Given the description of an element on the screen output the (x, y) to click on. 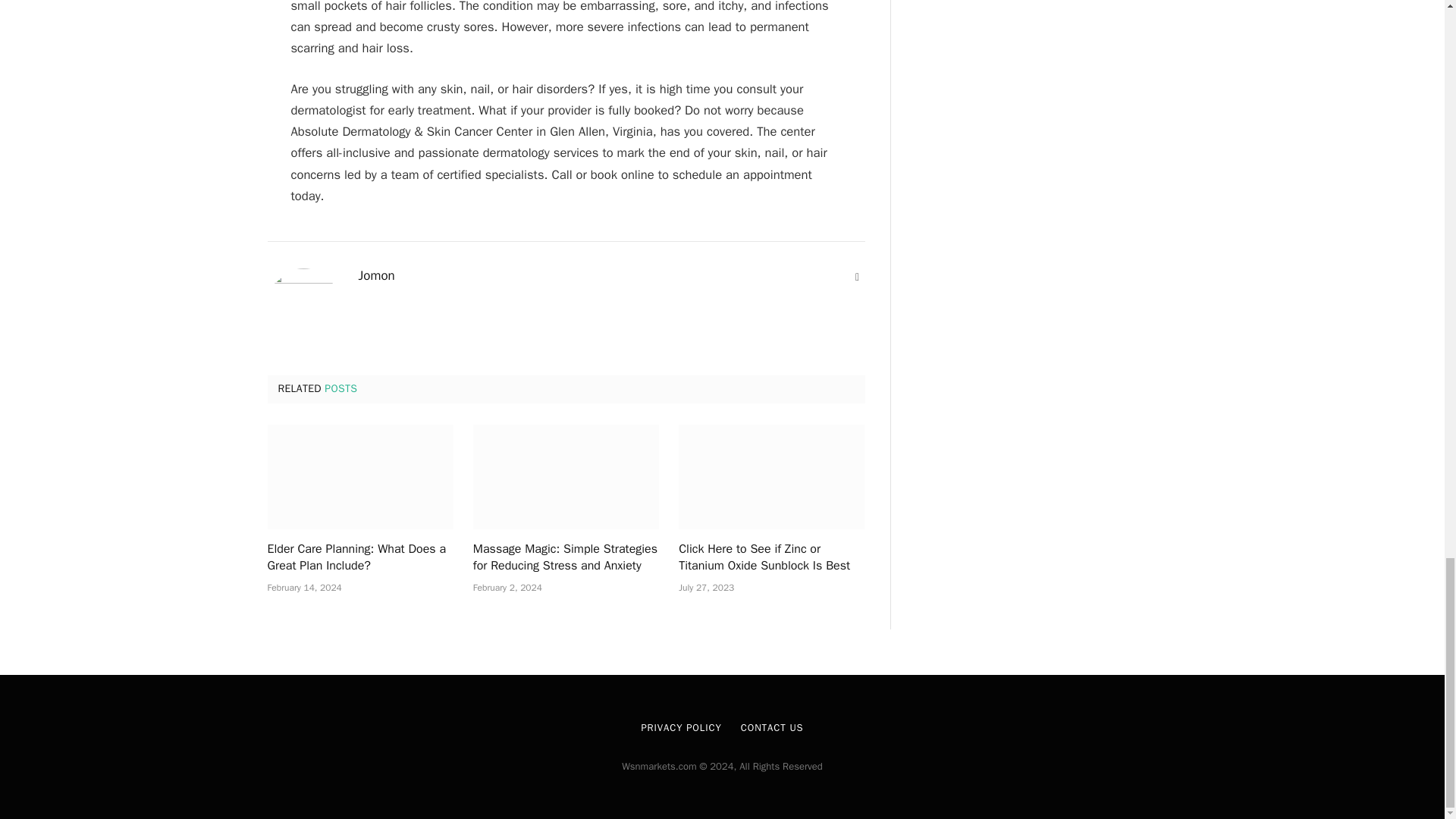
Website (856, 277)
Website (856, 277)
Click Here to See if Zinc or Titanium Oxide Sunblock Is Best (771, 557)
Jomon (376, 275)
Click Here to See if Zinc or Titanium Oxide Sunblock Is Best (771, 477)
Elder Care Planning: What Does a Great Plan Include? (359, 477)
Posts by Jomon (376, 275)
Elder Care Planning: What Does a Great Plan Include? (359, 557)
